Given the description of an element on the screen output the (x, y) to click on. 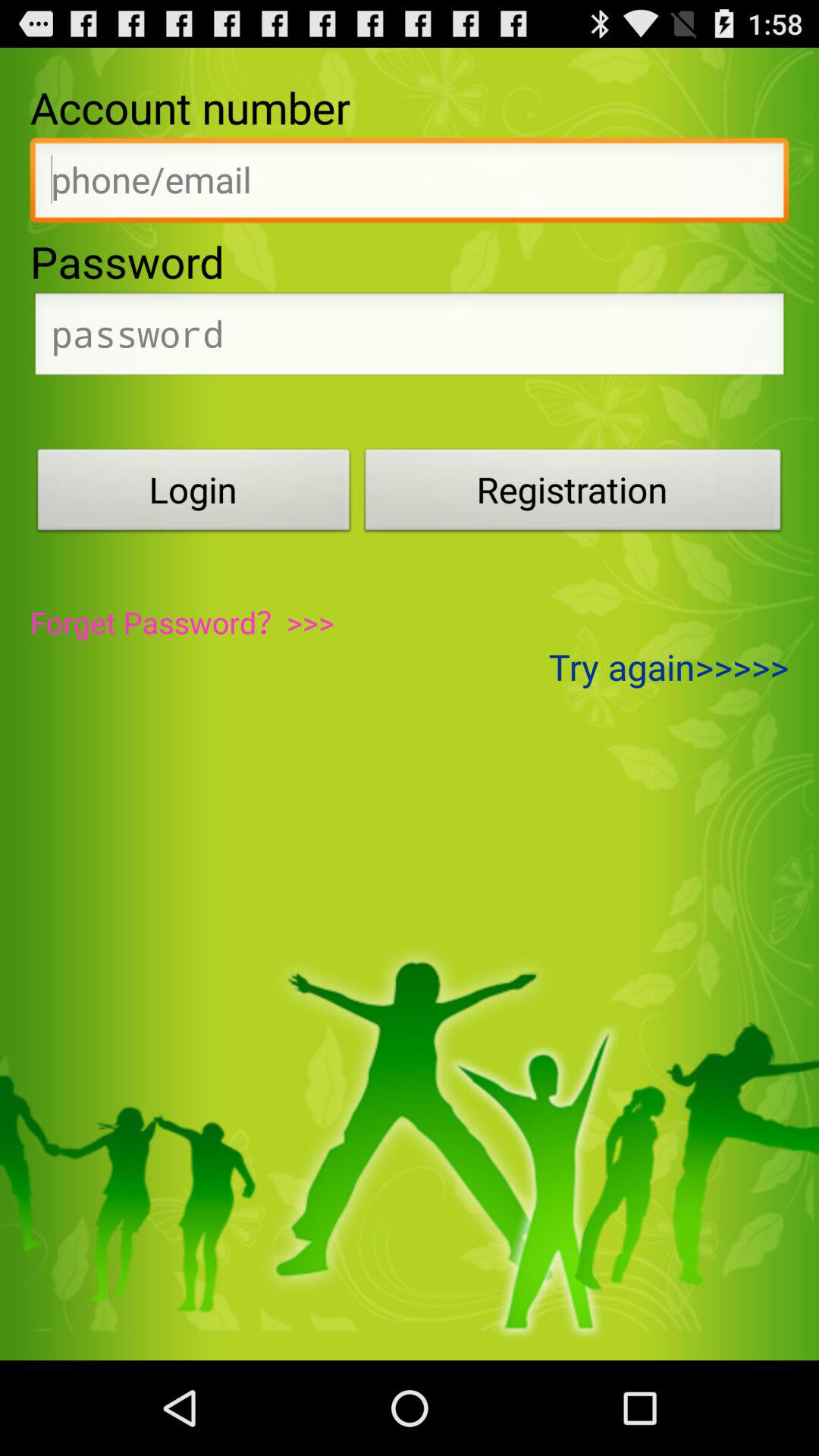
click the icon above the try again>>>>> item (572, 494)
